Given the description of an element on the screen output the (x, y) to click on. 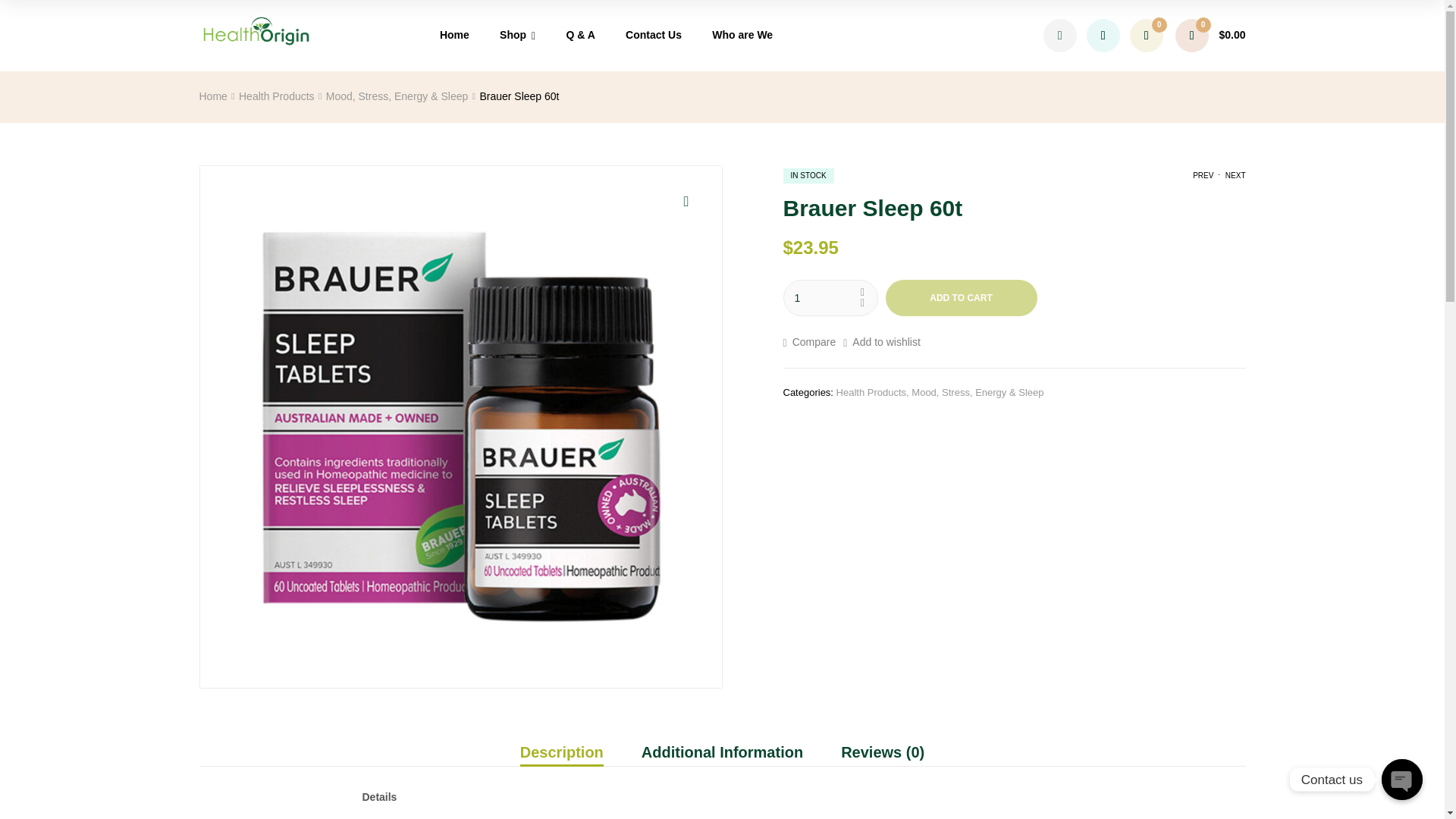
View your shopping cart (1210, 35)
1 (830, 298)
Home (454, 35)
Shop (518, 35)
